Given the description of an element on the screen output the (x, y) to click on. 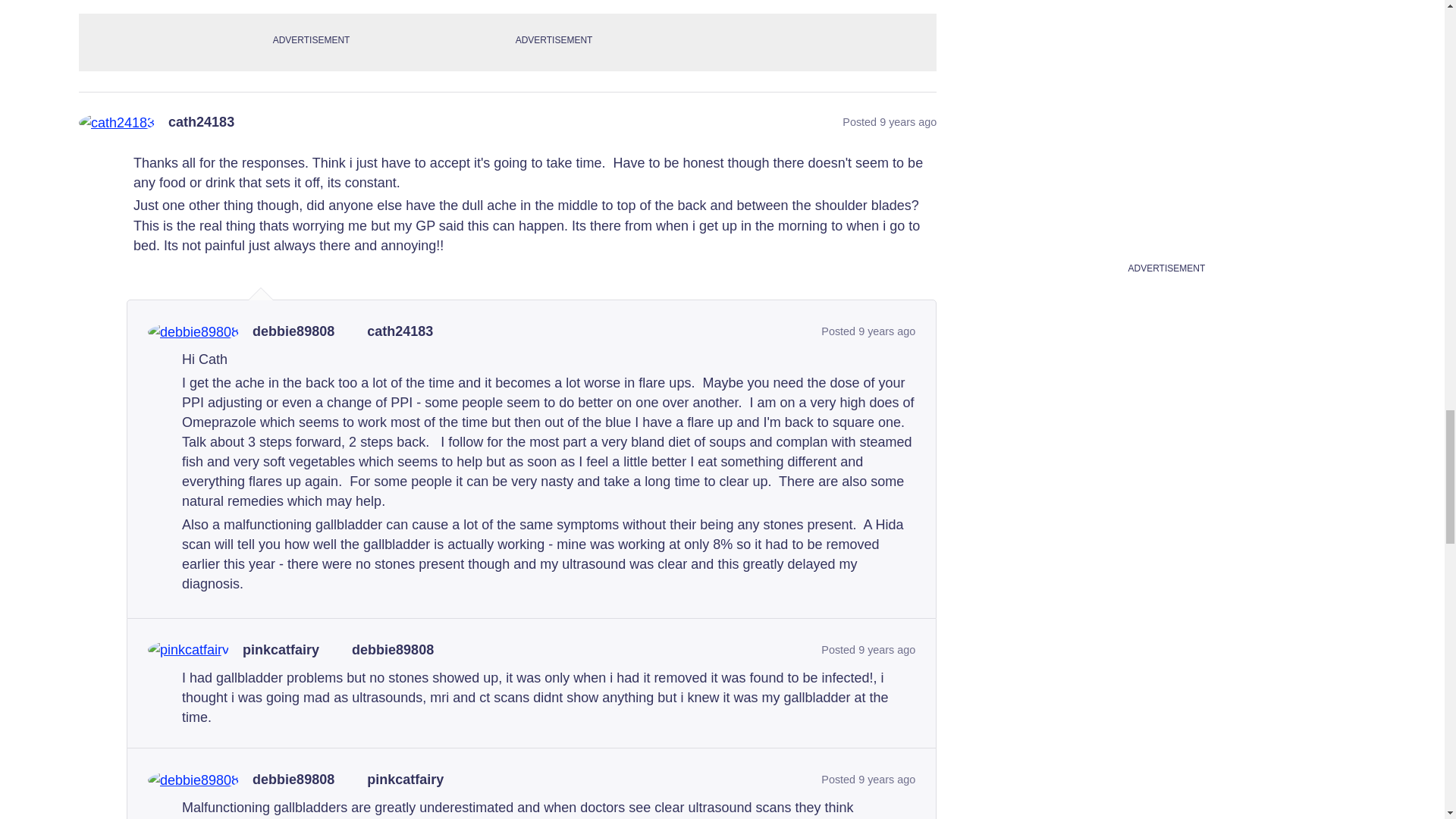
View debbie89808's profile (292, 331)
View pinkcatfairy's profile (280, 650)
View debbie89808's profile (292, 780)
cath24183 (201, 122)
View cath24183's profile (201, 122)
